Given the description of an element on the screen output the (x, y) to click on. 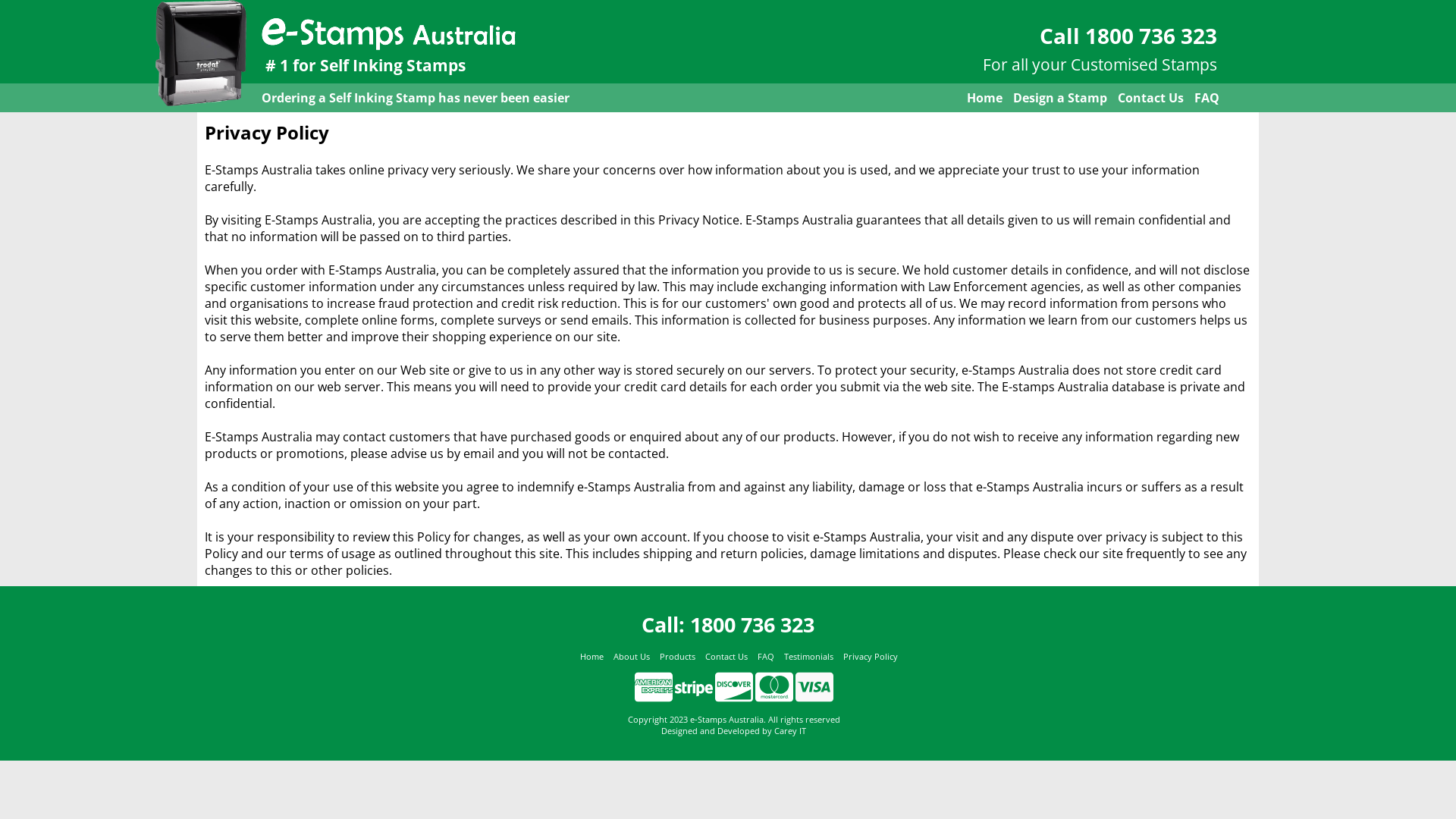
Design a Stamp Element type: text (1059, 97)
FAQ Element type: text (1206, 97)
Contact Us Element type: text (1150, 97)
About Us Element type: text (630, 656)
Call 1800 736 323 Element type: text (1128, 35)
Testimonials Element type: text (808, 656)
Contact Us Element type: text (726, 656)
Products Element type: text (677, 656)
FAQ Element type: text (764, 656)
e-Stamps Australia Element type: hover (388, 30)
Call: 1800 736 323 Element type: text (727, 624)
Home Element type: text (590, 656)
Privacy Policy Element type: text (870, 656)
Home Element type: text (984, 97)
